Given the description of an element on the screen output the (x, y) to click on. 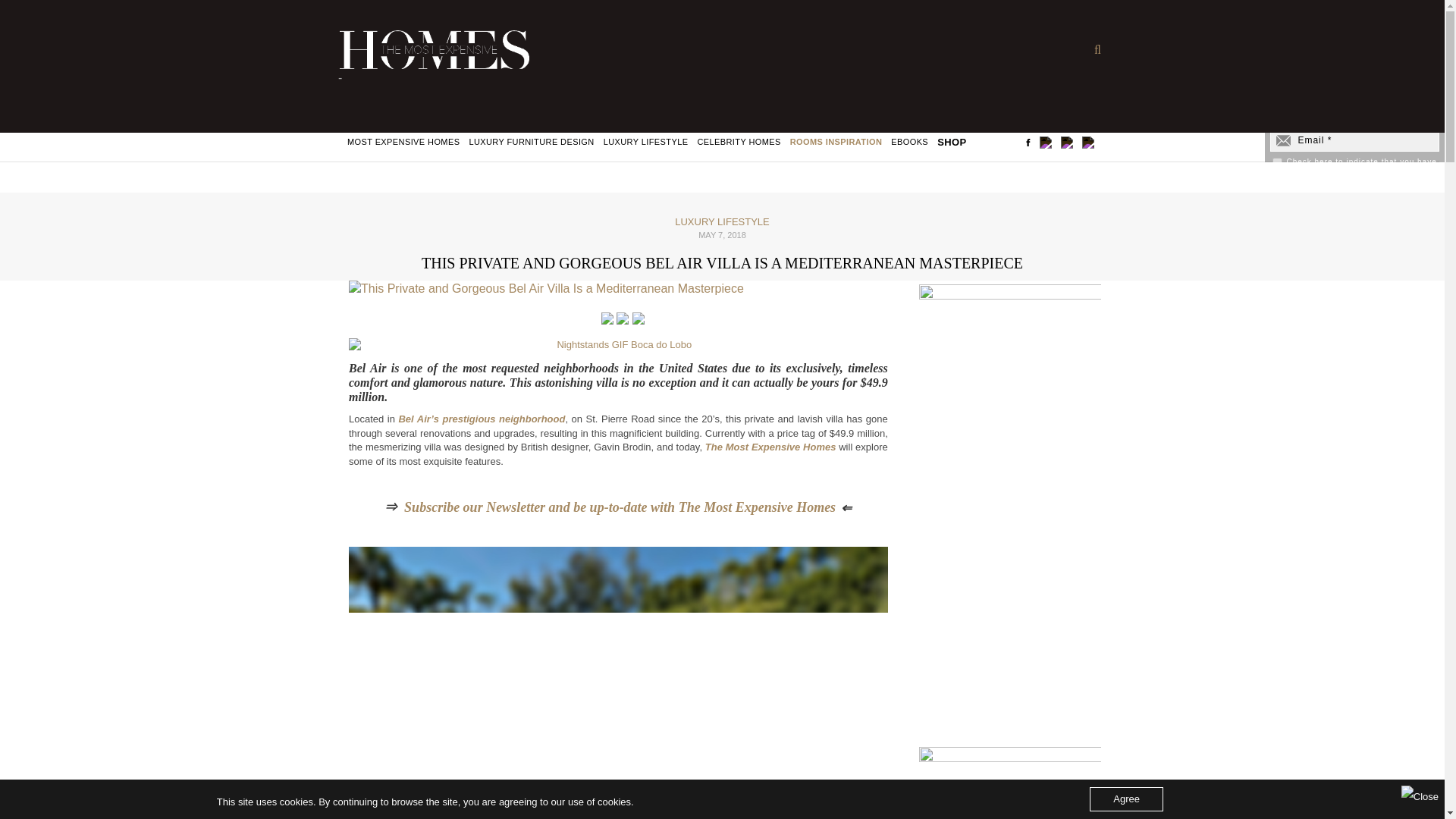
UNLOCK IT NOW (1354, 204)
LUXURY FURNITURE DESIGN (531, 142)
UNLOCK IT NOW (1354, 204)
MOST EXPENSIVE HOMES (403, 142)
LUXURY LIFESTYLE (646, 142)
EBOOKS (909, 142)
SHOP (951, 142)
CELEBRITY HOMES (738, 142)
on (1277, 162)
ROOMS INSPIRATION (836, 142)
